Given the description of an element on the screen output the (x, y) to click on. 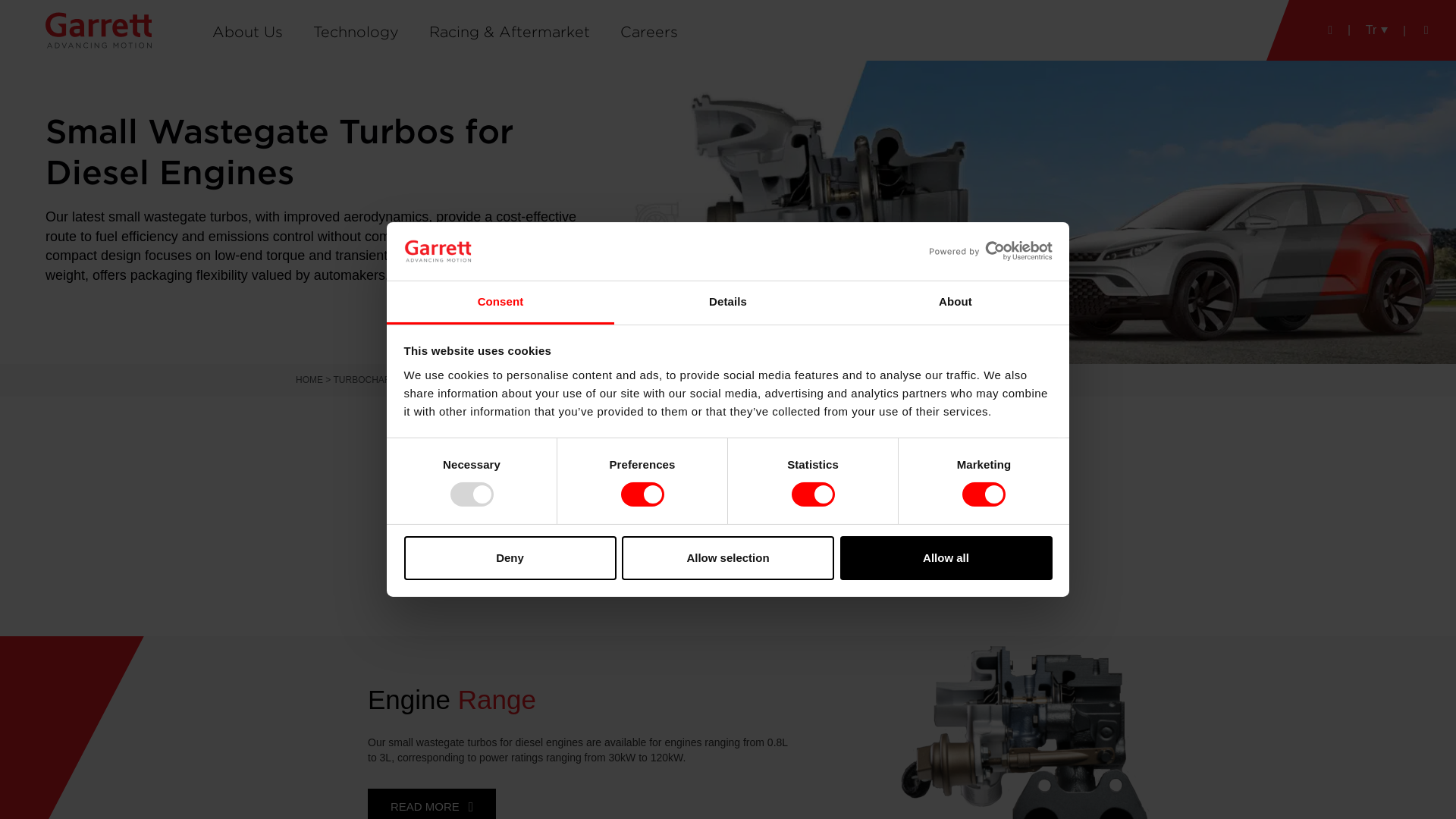
Details (727, 302)
Consent (500, 302)
About (954, 302)
